Given the description of an element on the screen output the (x, y) to click on. 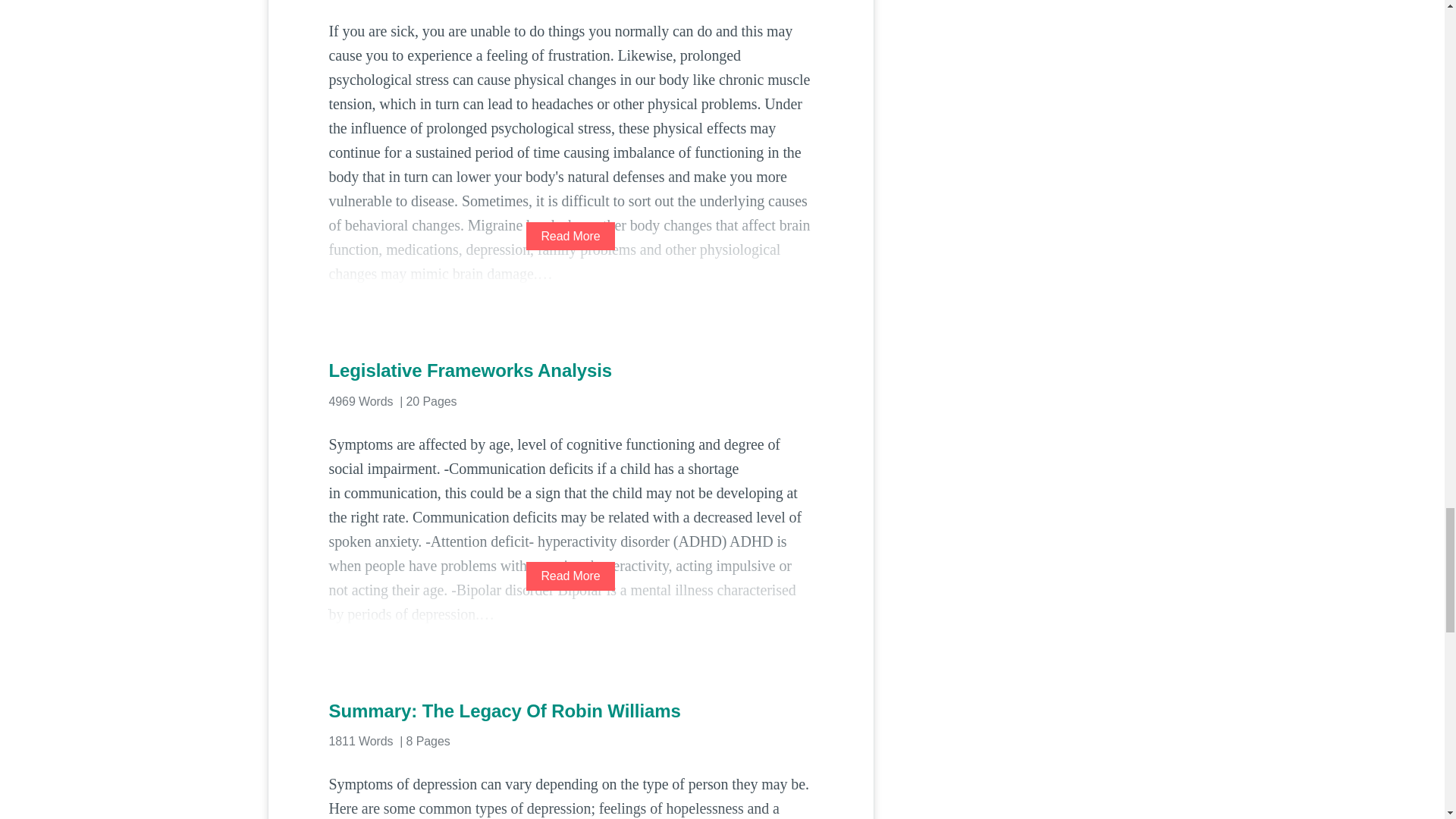
Summary: The Legacy Of Robin Williams (570, 711)
Legislative Frameworks Analysis (570, 370)
Read More (569, 235)
Read More (569, 575)
